Given the description of an element on the screen output the (x, y) to click on. 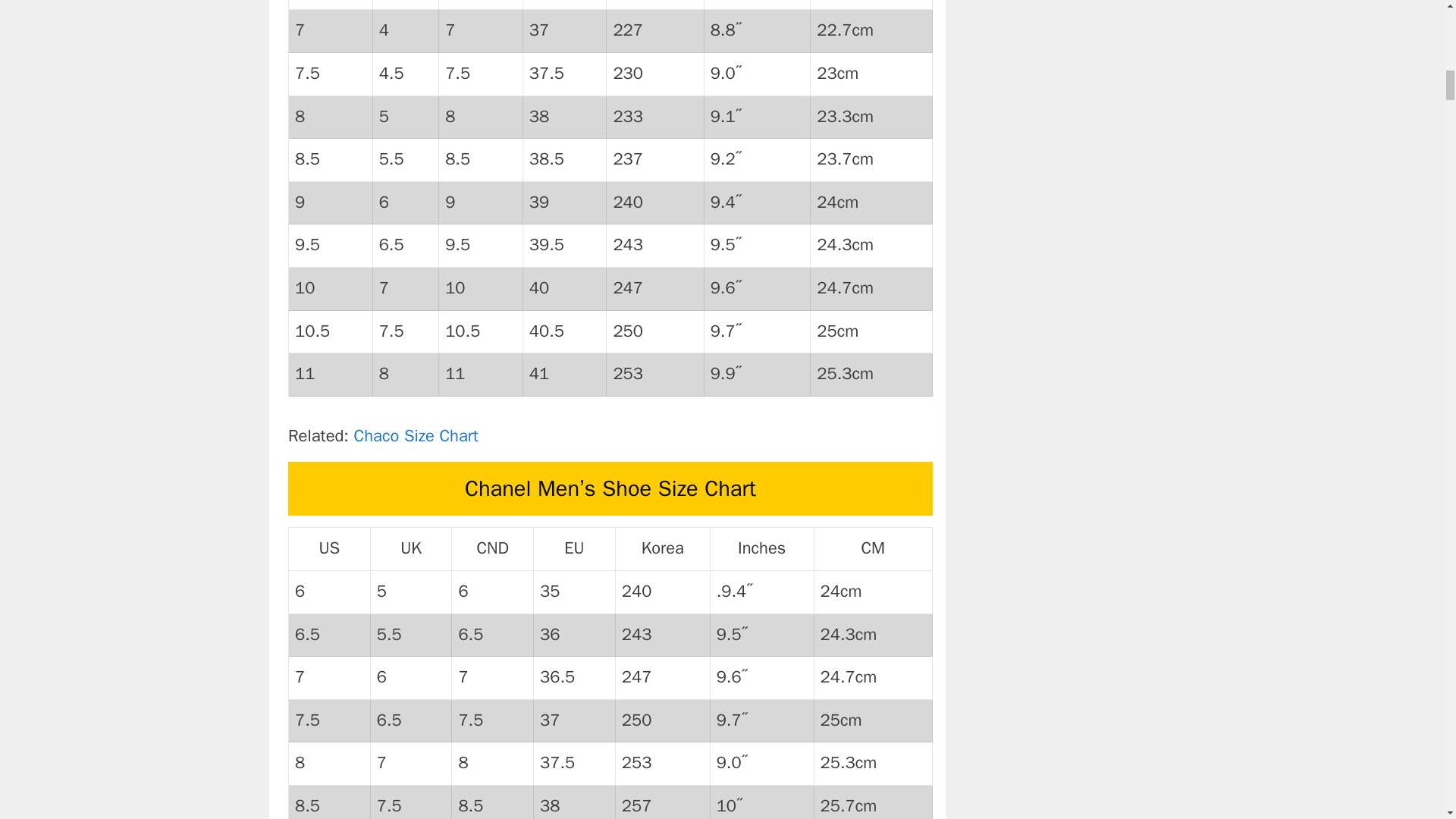
Chaco Size Chart (416, 435)
